Given the description of an element on the screen output the (x, y) to click on. 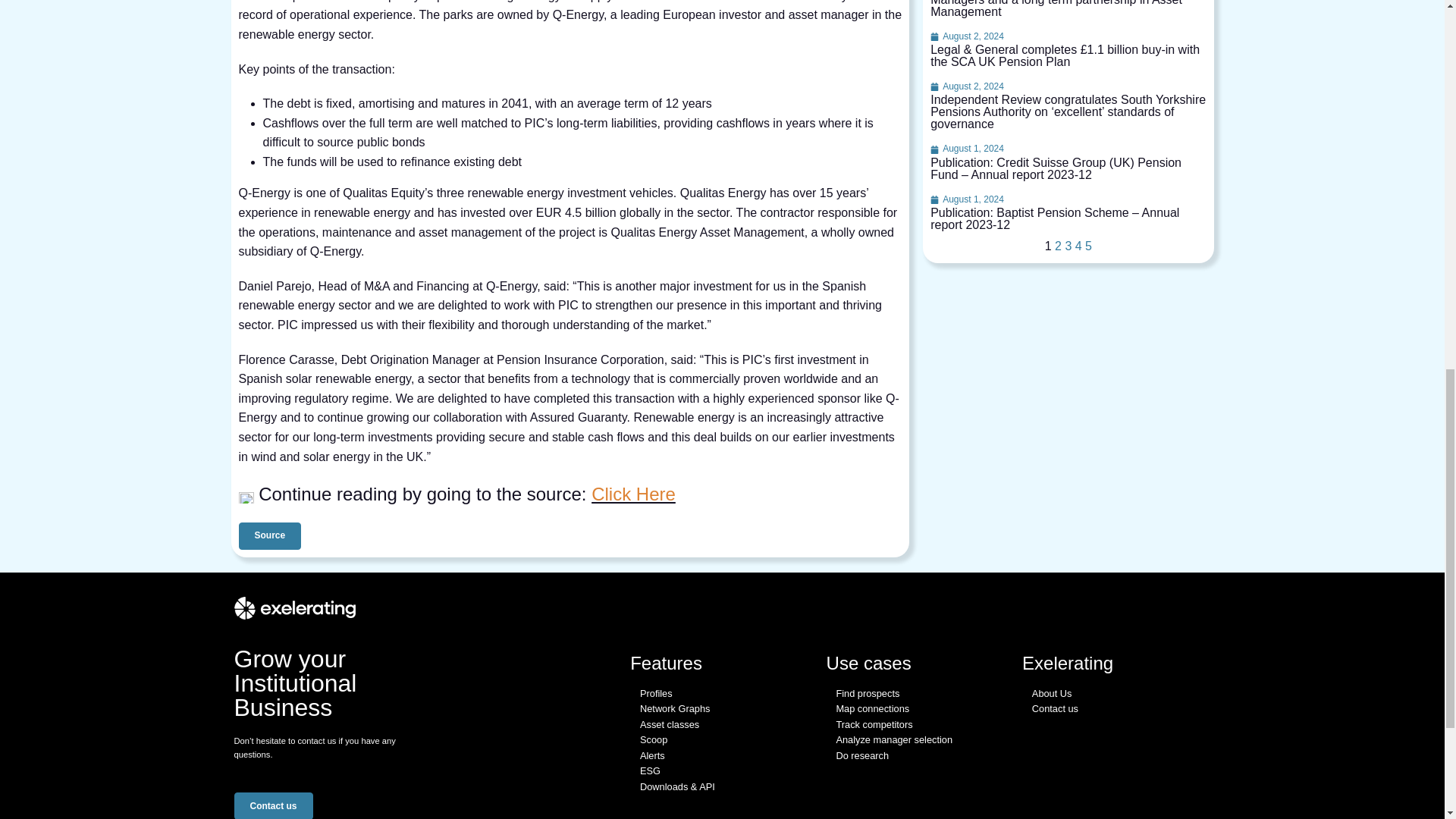
Source (269, 535)
Click Here (633, 494)
